Given the description of an element on the screen output the (x, y) to click on. 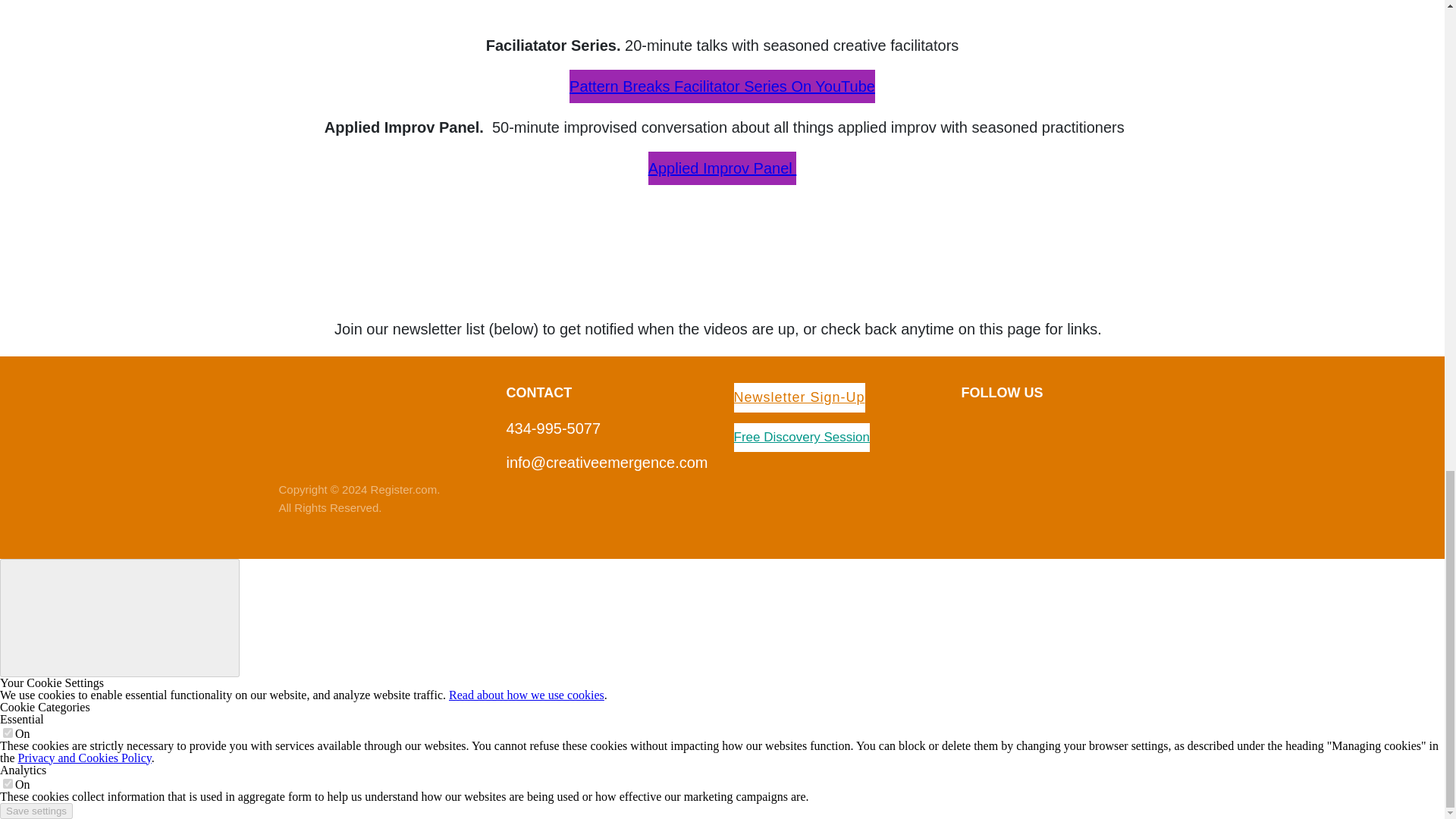
on (7, 732)
Newsletter Sign-Up (798, 398)
Free Discovery Session (801, 437)
Read about how we use cookies (526, 694)
Privacy and Cookies Policy (84, 757)
on (7, 783)
Pattern Breaks Facilitator Series On YouTube (722, 86)
Applied Improv Panel (721, 168)
